Given the description of an element on the screen output the (x, y) to click on. 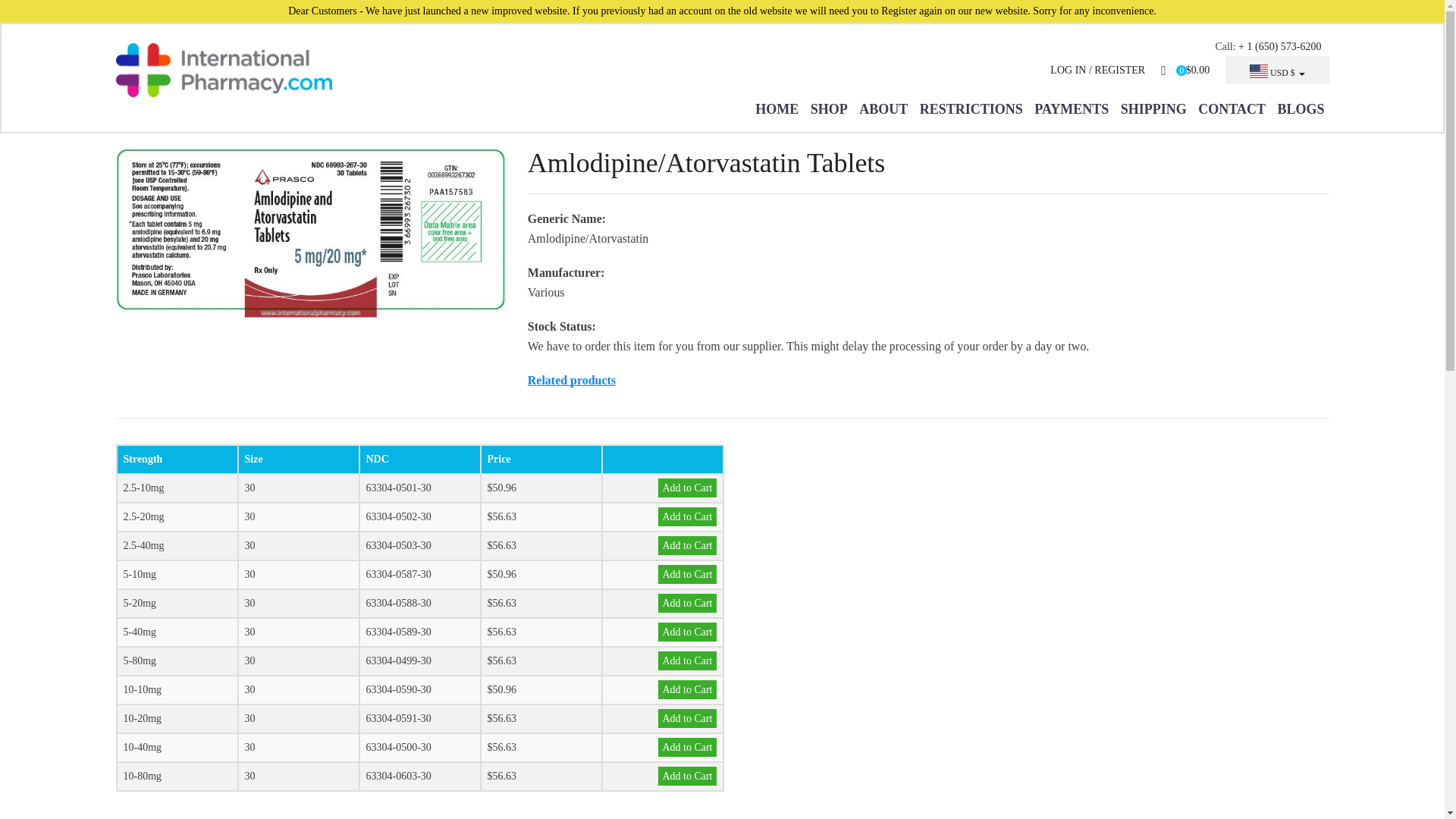
ABOUT (883, 108)
SHIPPING (1153, 108)
RESTRICTIONS (971, 108)
PAYMENTS (1071, 108)
CONTACT (1231, 108)
SHOP (828, 108)
BLOGS (1299, 108)
HOME (779, 108)
